Given the description of an element on the screen output the (x, y) to click on. 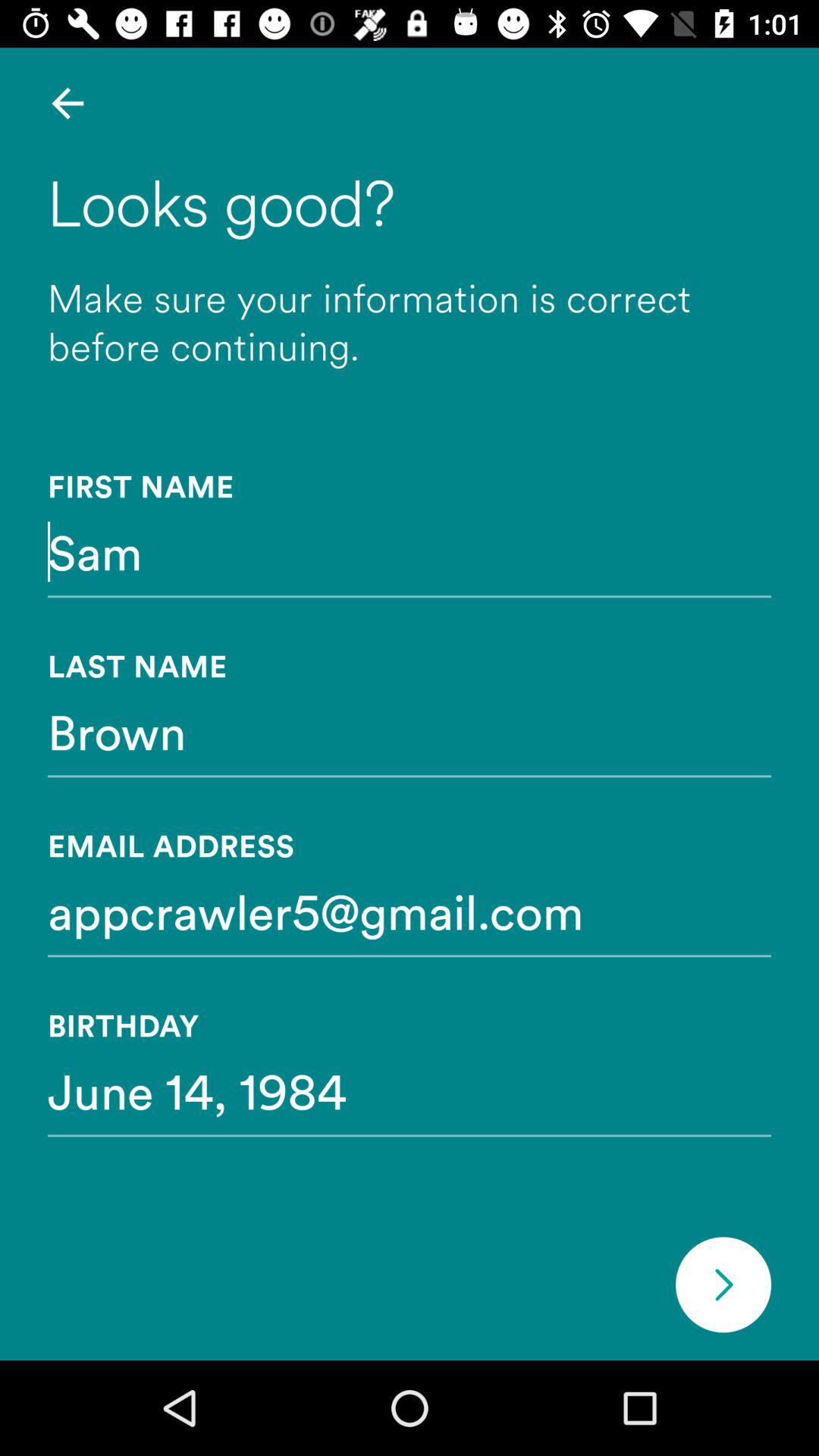
tap brown item (409, 731)
